Given the description of an element on the screen output the (x, y) to click on. 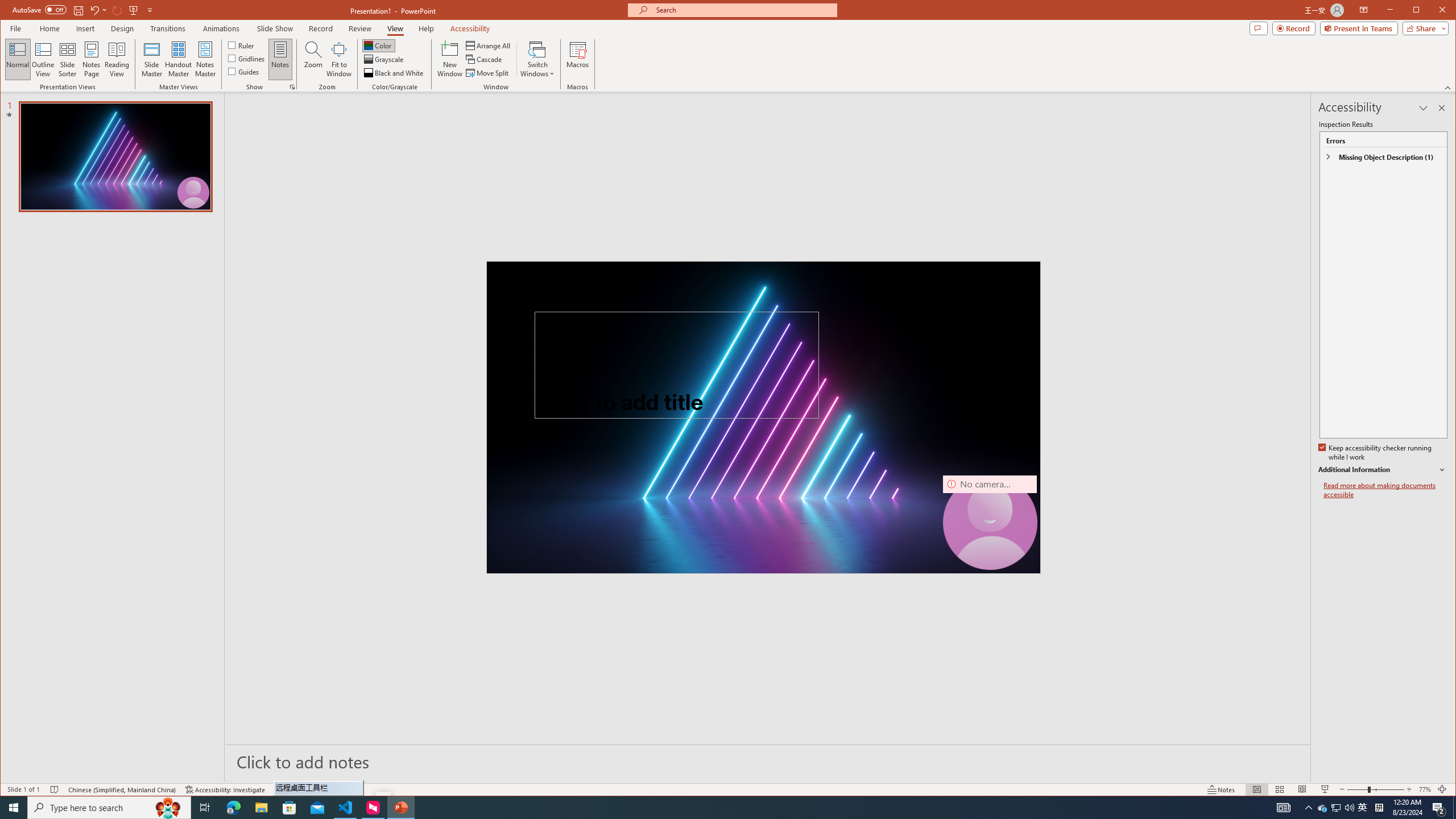
Arrange All (488, 45)
Slide Master (151, 59)
Running applications (700, 807)
Notes Page (91, 59)
Grid Settings... (292, 86)
